Given the description of an element on the screen output the (x, y) to click on. 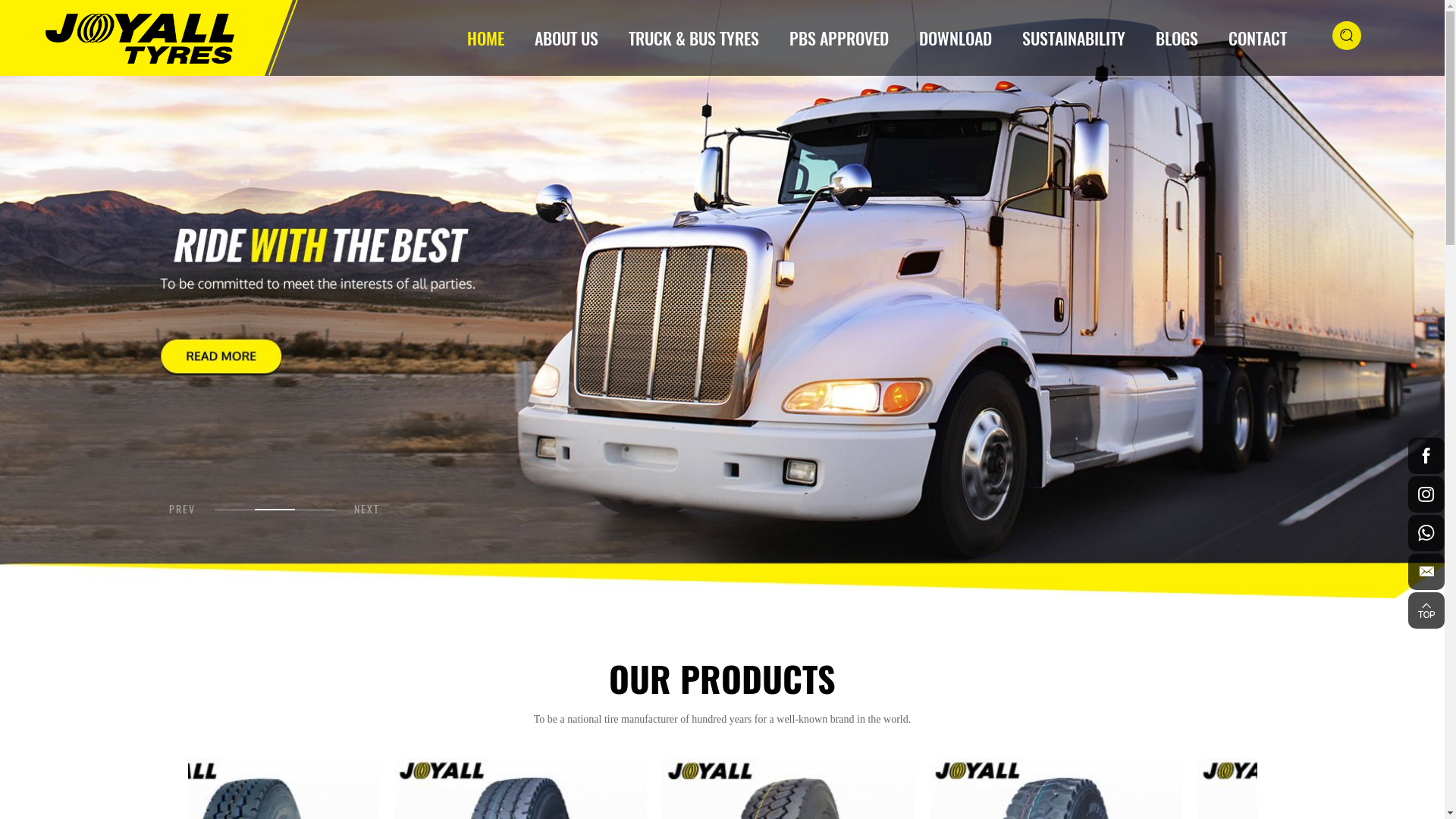
SUSTAINABILITY Element type: text (1073, 37)
DOWNLOAD Element type: text (955, 37)
CONTACT Element type: text (1257, 37)
HOME Element type: text (485, 37)
PBS APPROVED Element type: text (838, 37)
ABOUT US Element type: text (566, 37)
BLOGS Element type: text (1176, 37)
TRUCK & BUS TYRES Element type: text (693, 37)
